Given the description of an element on the screen output the (x, y) to click on. 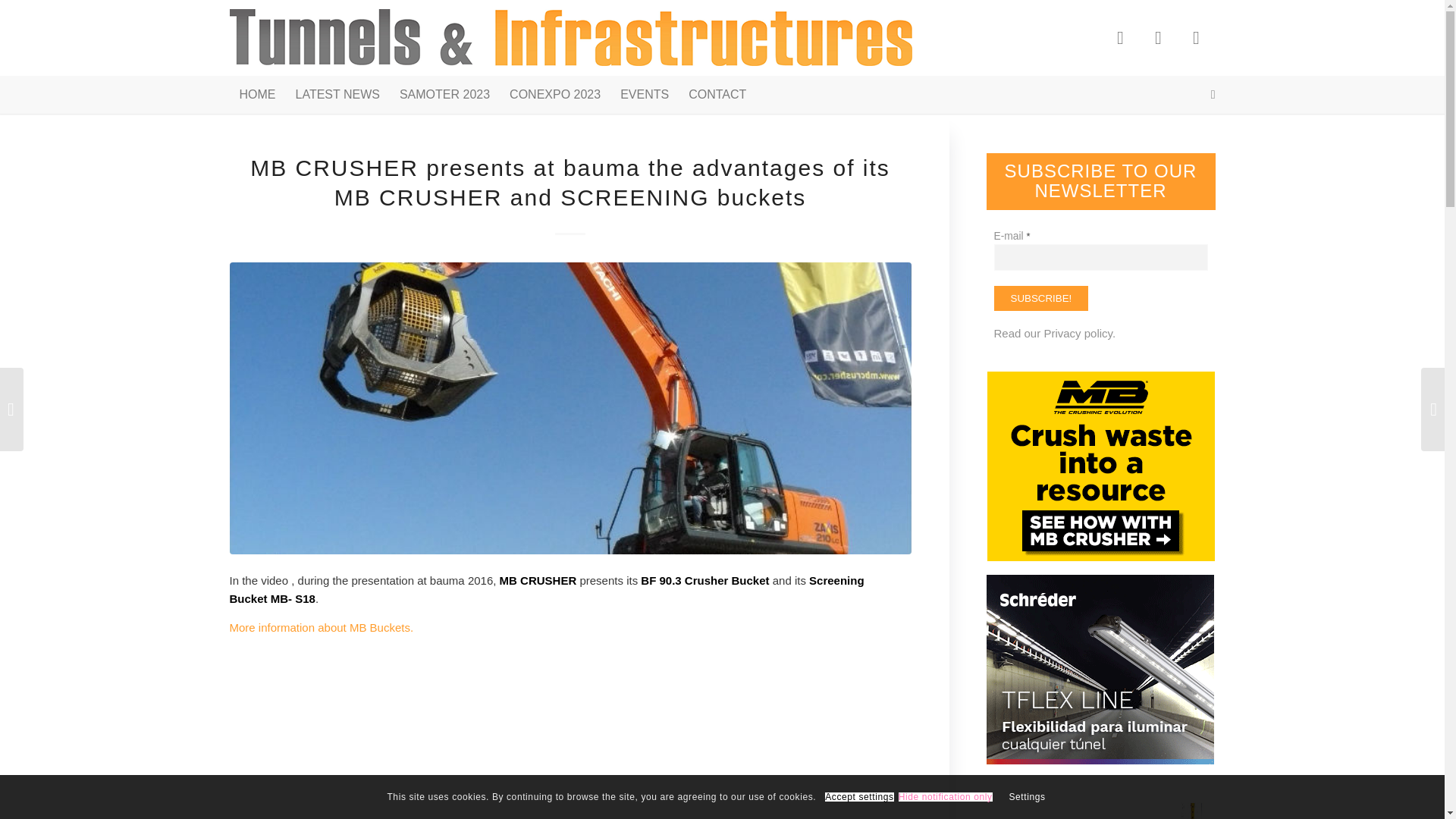
Twitter (1158, 37)
SAMOTER 2023 (444, 94)
EVENTS (644, 94)
CONEXPO 2023 (554, 94)
More information about MB Buckets. (320, 626)
LinkedIn (1196, 37)
Tunnels-logo-2020-2 (569, 38)
SUBSCRIBE! (1039, 298)
Facebook (1119, 37)
LATEST NEWS (336, 94)
